Given the description of an element on the screen output the (x, y) to click on. 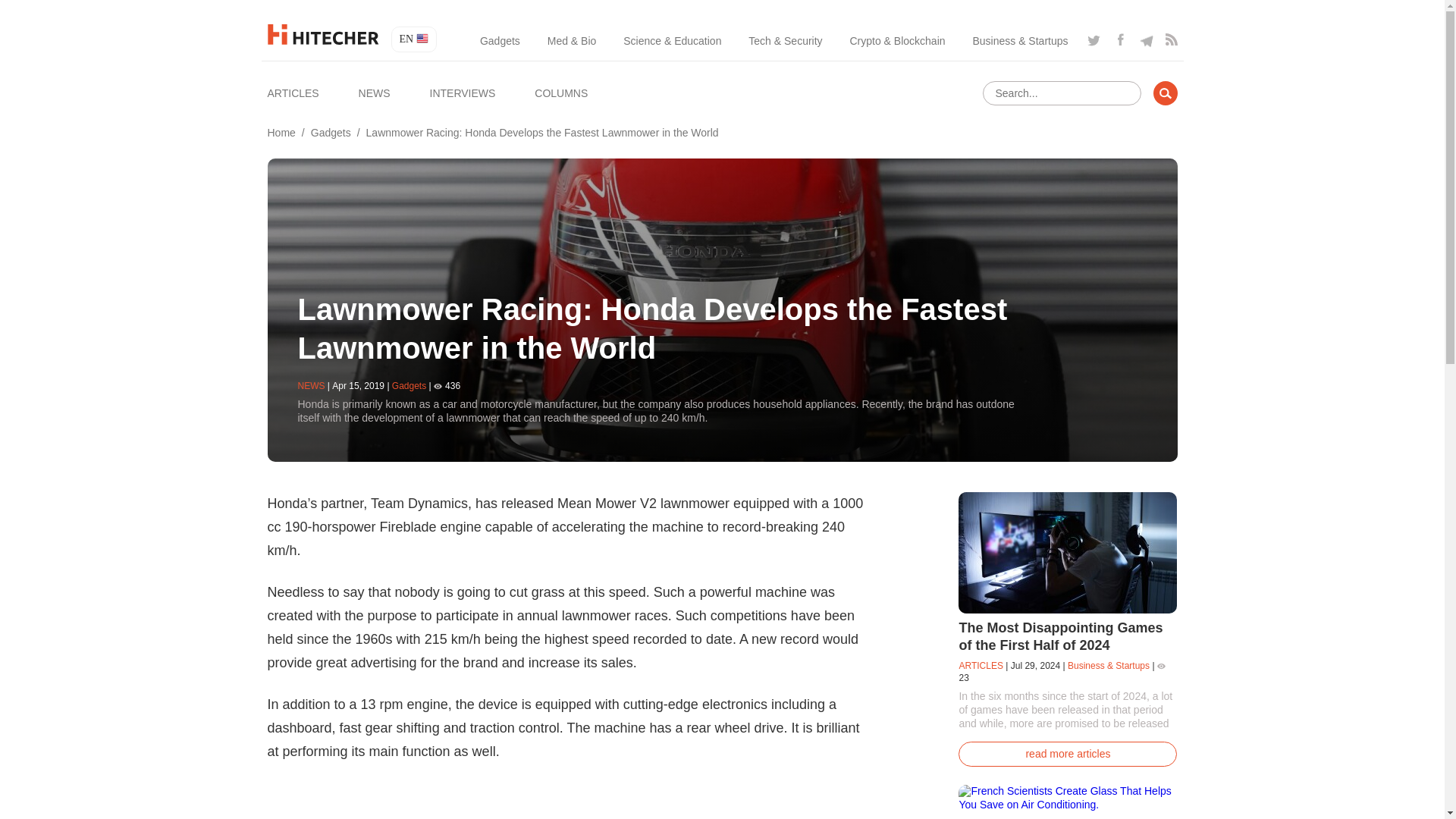
NEWS (374, 92)
COLUMNS (561, 92)
ARTICLES (292, 92)
Apr 15, 2019 (357, 385)
Home (280, 132)
The Most Disappointing Games of the First Half of 2024 (1059, 635)
read more articles (1067, 754)
Gadgets (330, 132)
INTERVIEWS (462, 92)
Gadgets (408, 385)
